Given the description of an element on the screen output the (x, y) to click on. 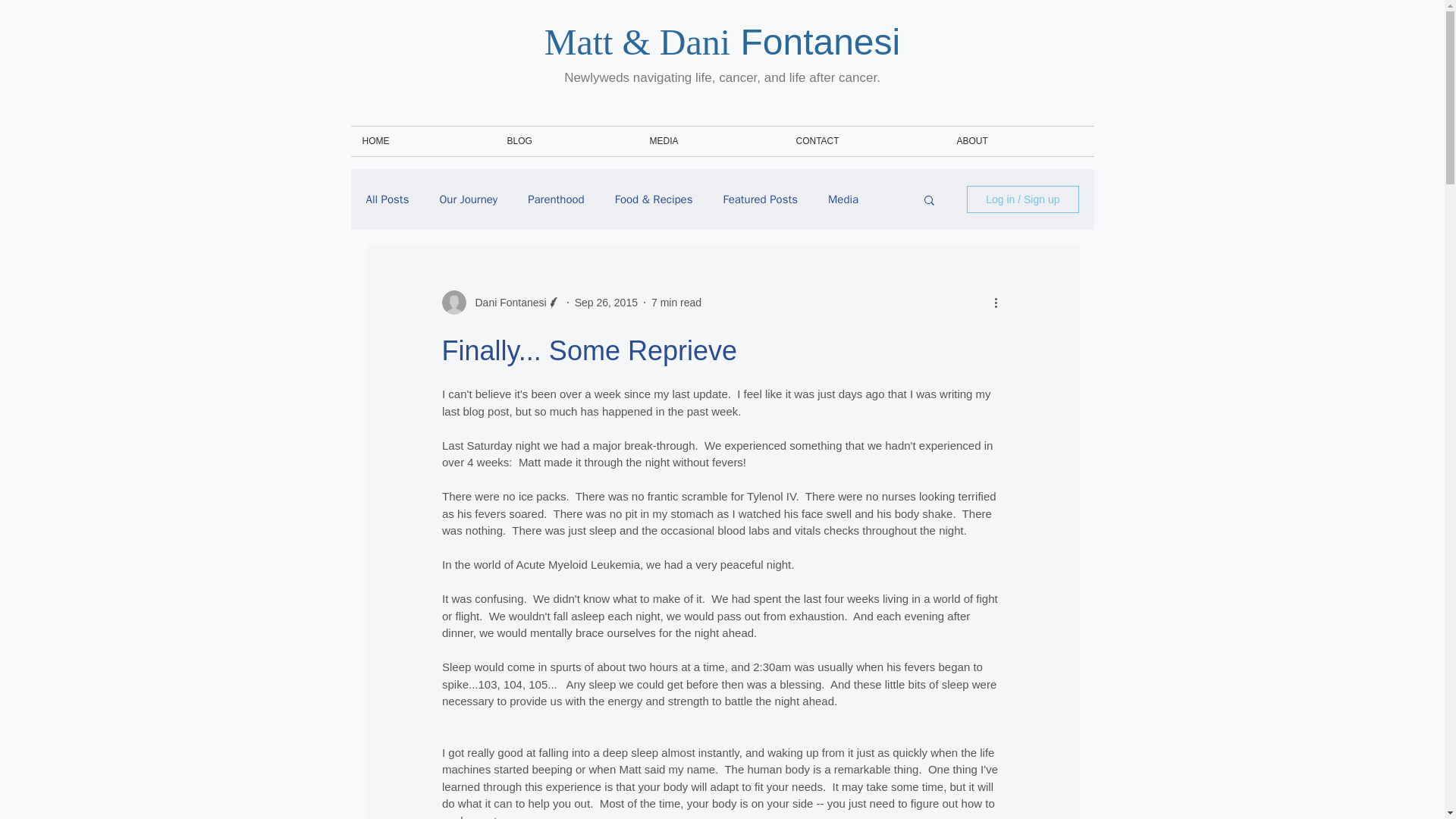
Parenthood (556, 199)
HOME (422, 141)
MEDIA (711, 141)
Media (843, 199)
Featured Posts (759, 199)
BLOG (567, 141)
All Posts (387, 199)
ABOUT (1018, 141)
Our Journey (468, 199)
7 min read (675, 301)
